Given the description of an element on the screen output the (x, y) to click on. 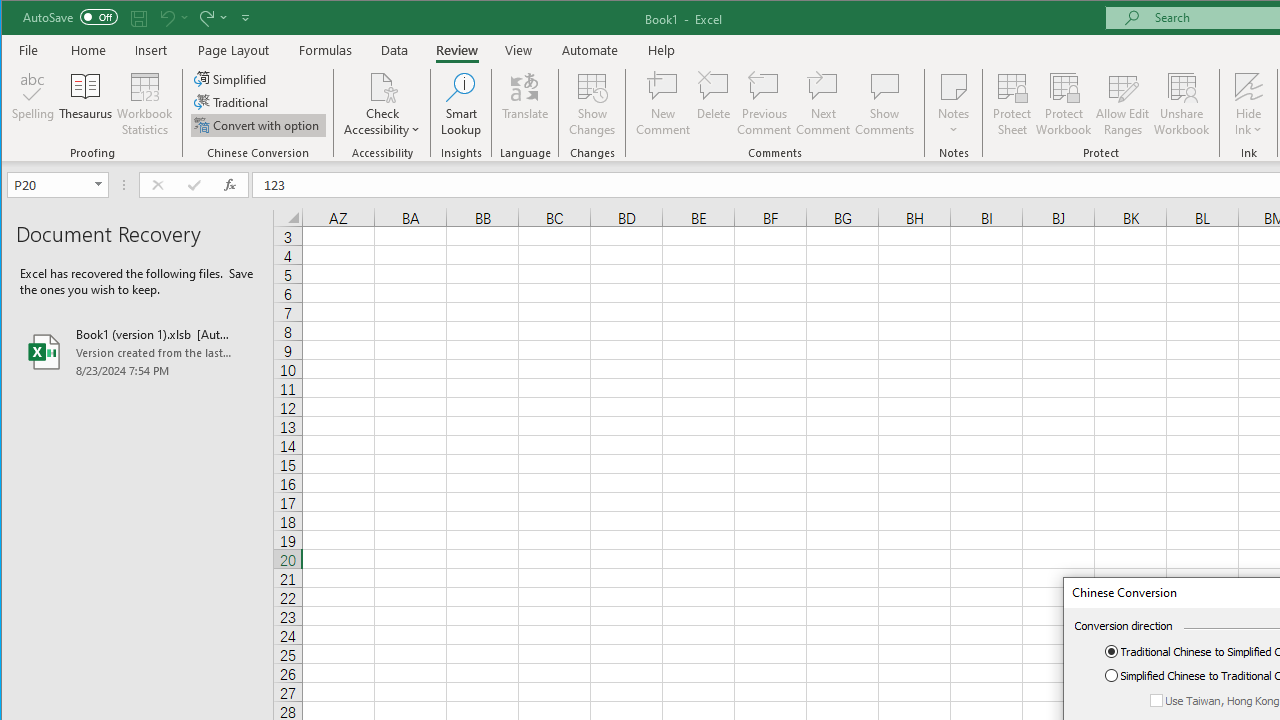
Thesaurus... (86, 104)
Workbook Statistics (145, 104)
Protect Workbook... (1064, 104)
Hide Ink (1248, 86)
Show Comments (884, 104)
Simplified (231, 78)
New Comment (662, 104)
Allow Edit Ranges (1123, 104)
